Given the description of an element on the screen output the (x, y) to click on. 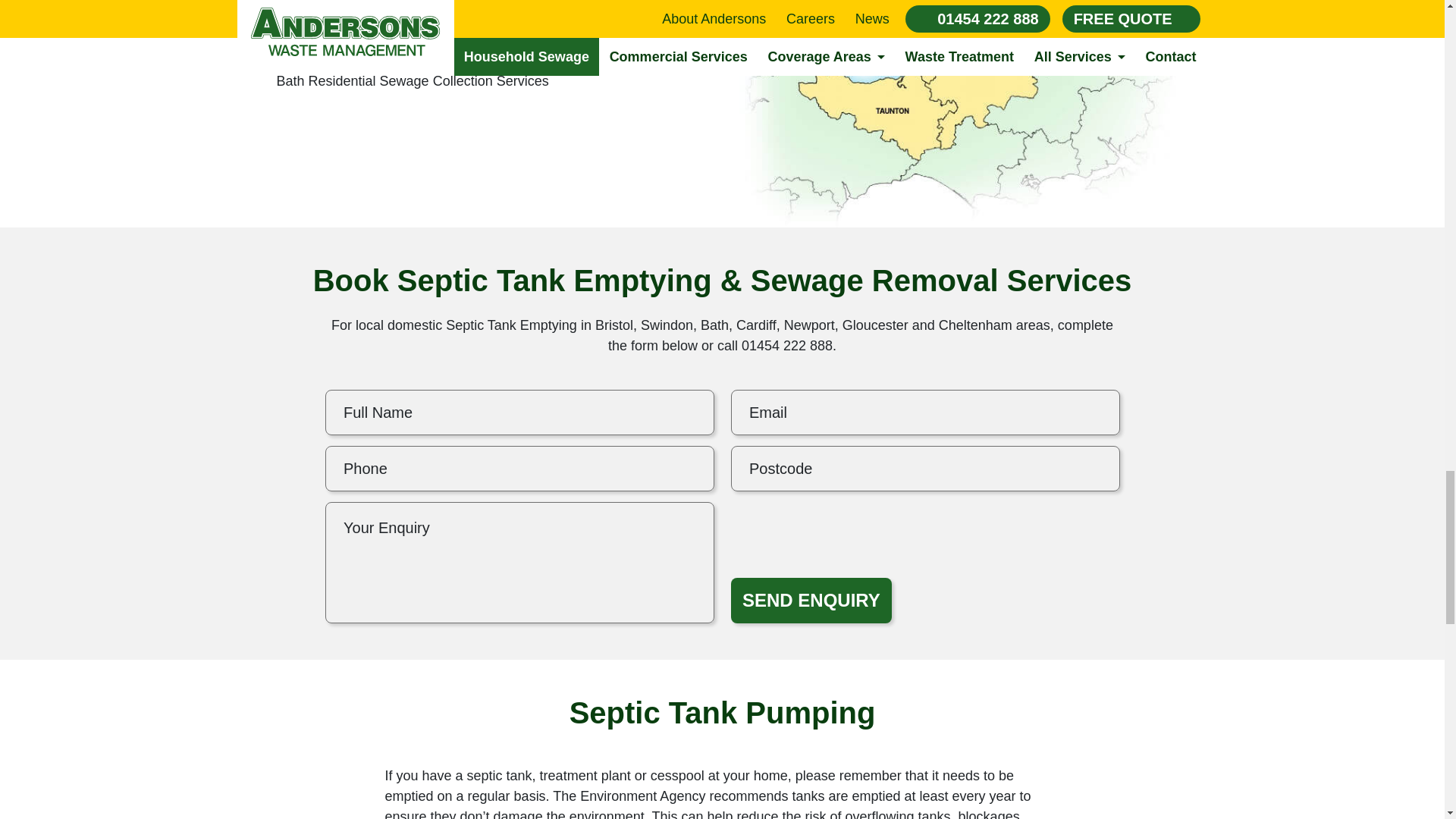
SEND ENQUIRY (810, 600)
